Given the description of an element on the screen output the (x, y) to click on. 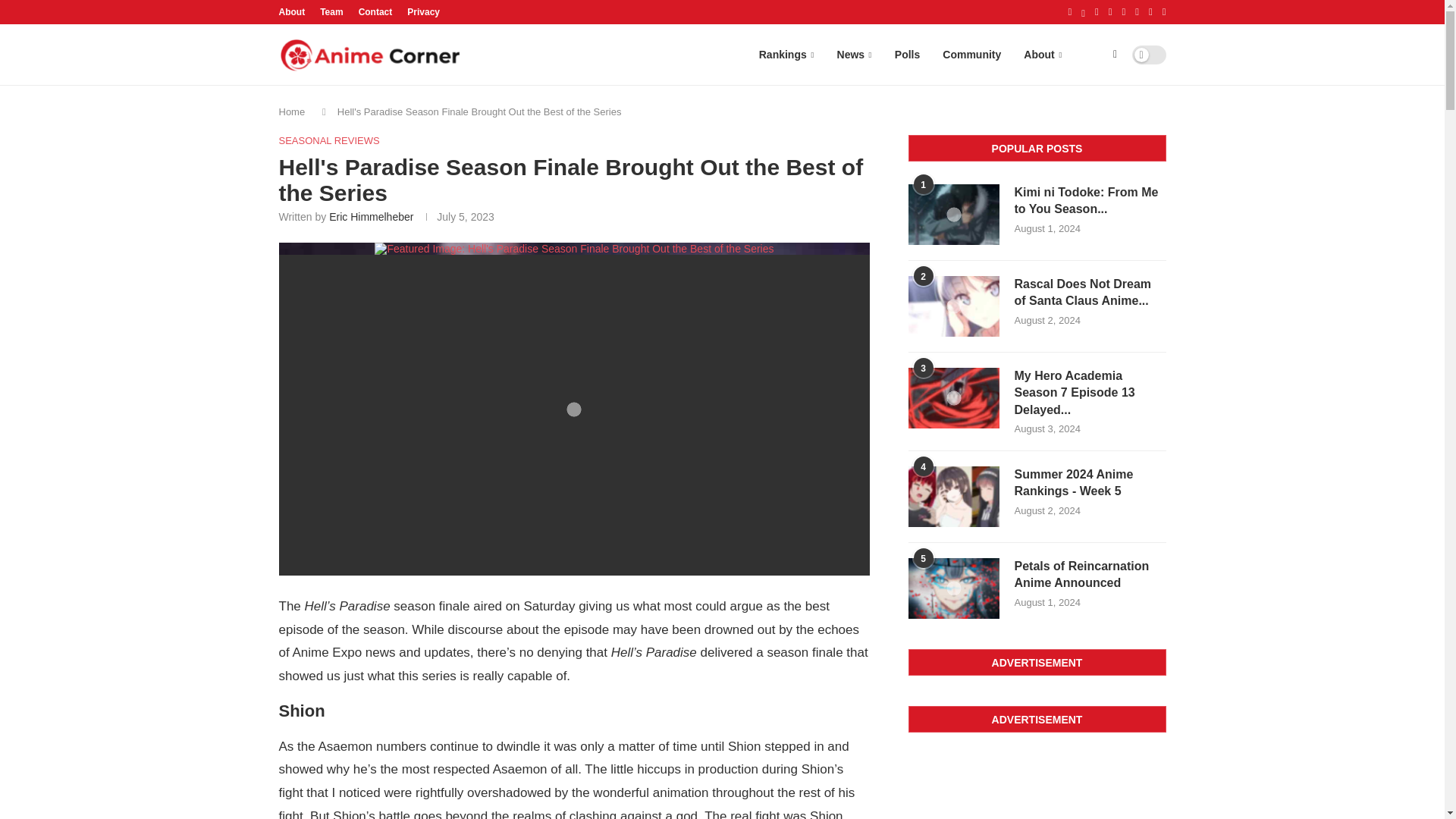
Petals of Reincarnation Anime Announced (953, 588)
Eric Himmelheber (371, 216)
About (292, 12)
About (1042, 54)
Contact (375, 12)
Community (971, 54)
Privacy (423, 12)
